Given the description of an element on the screen output the (x, y) to click on. 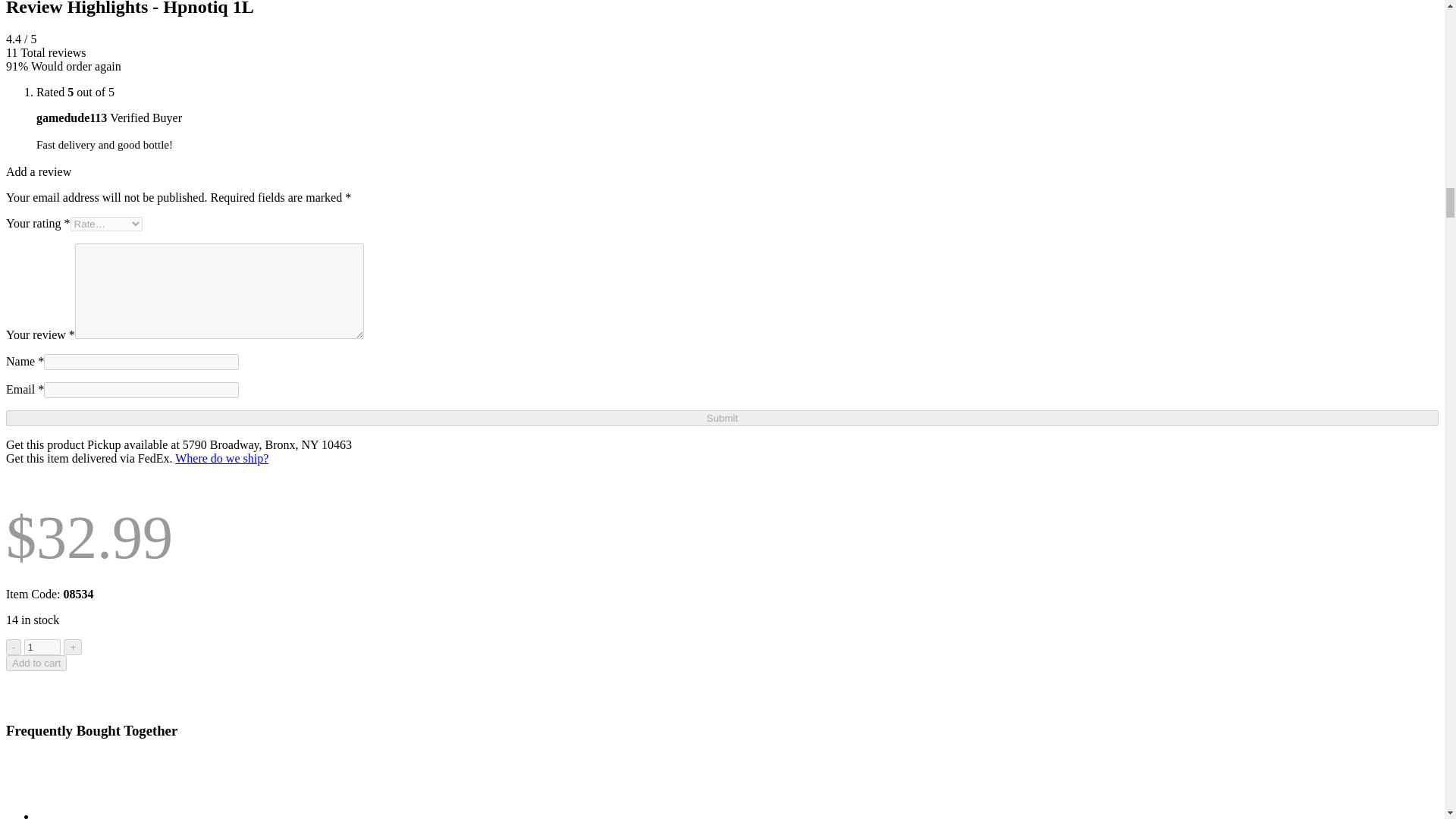
1 (42, 647)
- (13, 647)
